Given the description of an element on the screen output the (x, y) to click on. 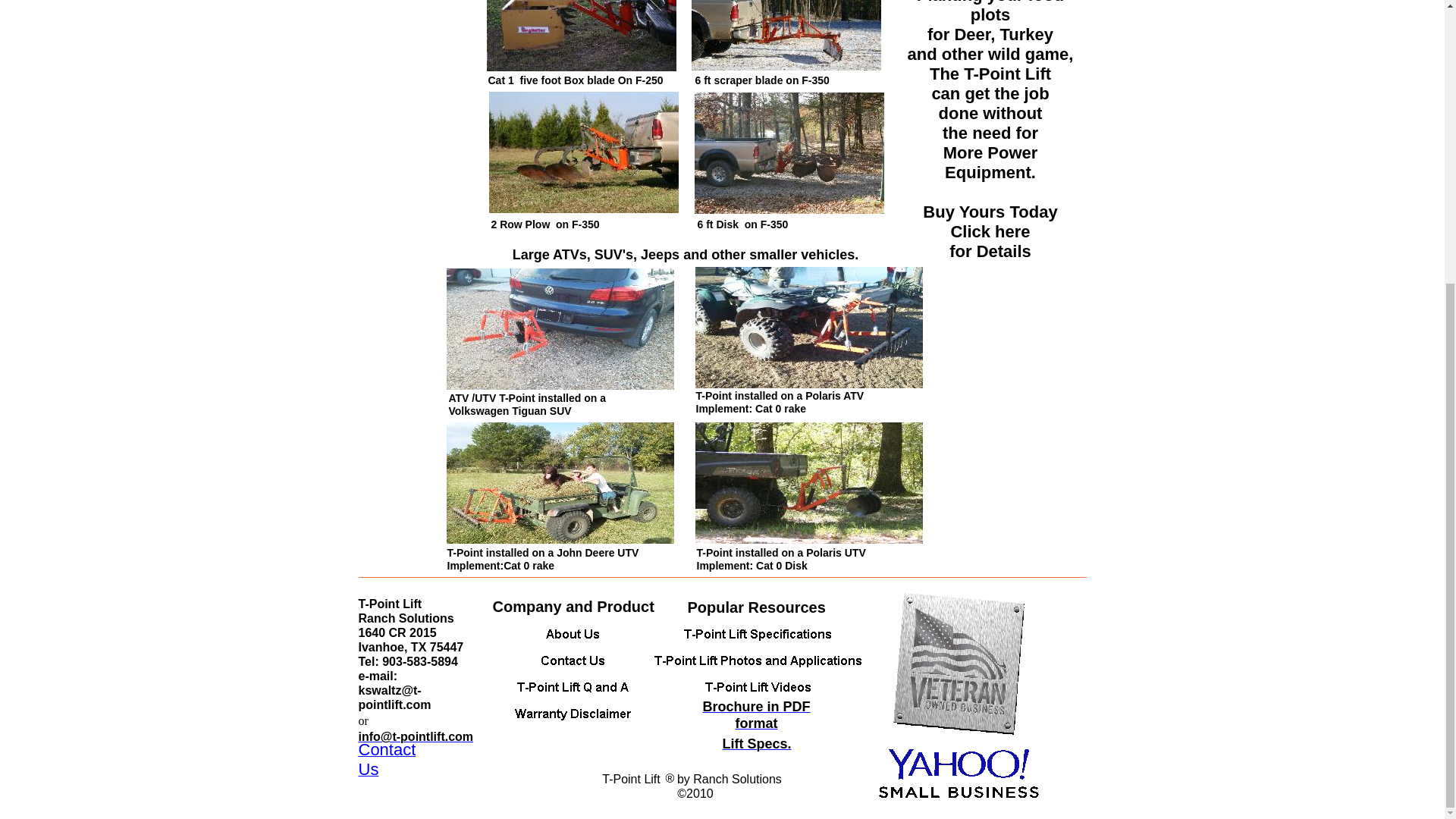
PDF (796, 707)
ift Specs. (761, 746)
Contact Us (386, 762)
format (756, 723)
Brochure in (742, 707)
L (726, 746)
